Given the description of an element on the screen output the (x, y) to click on. 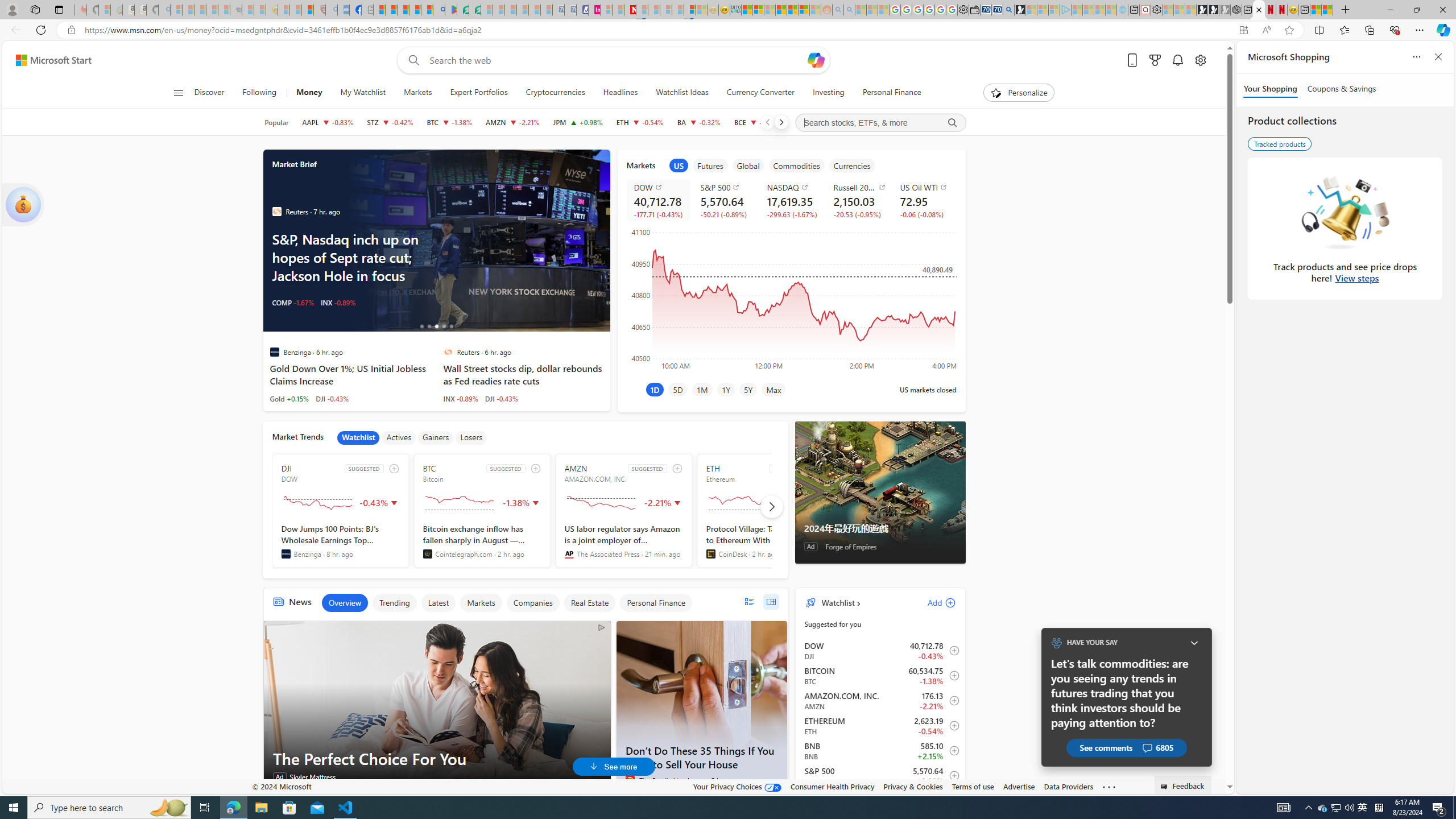
Actives (398, 437)
item3 (748, 164)
Microsoft Word - consumer-privacy address update 2.2021 (475, 9)
Wildlife - MSN (1315, 9)
Markets (417, 92)
list layout (749, 601)
AMZN AMAZON.COM, INC. decrease 176.13 -3.98 -2.21% item2 (880, 700)
S&P 500 (727, 187)
